Given the description of an element on the screen output the (x, y) to click on. 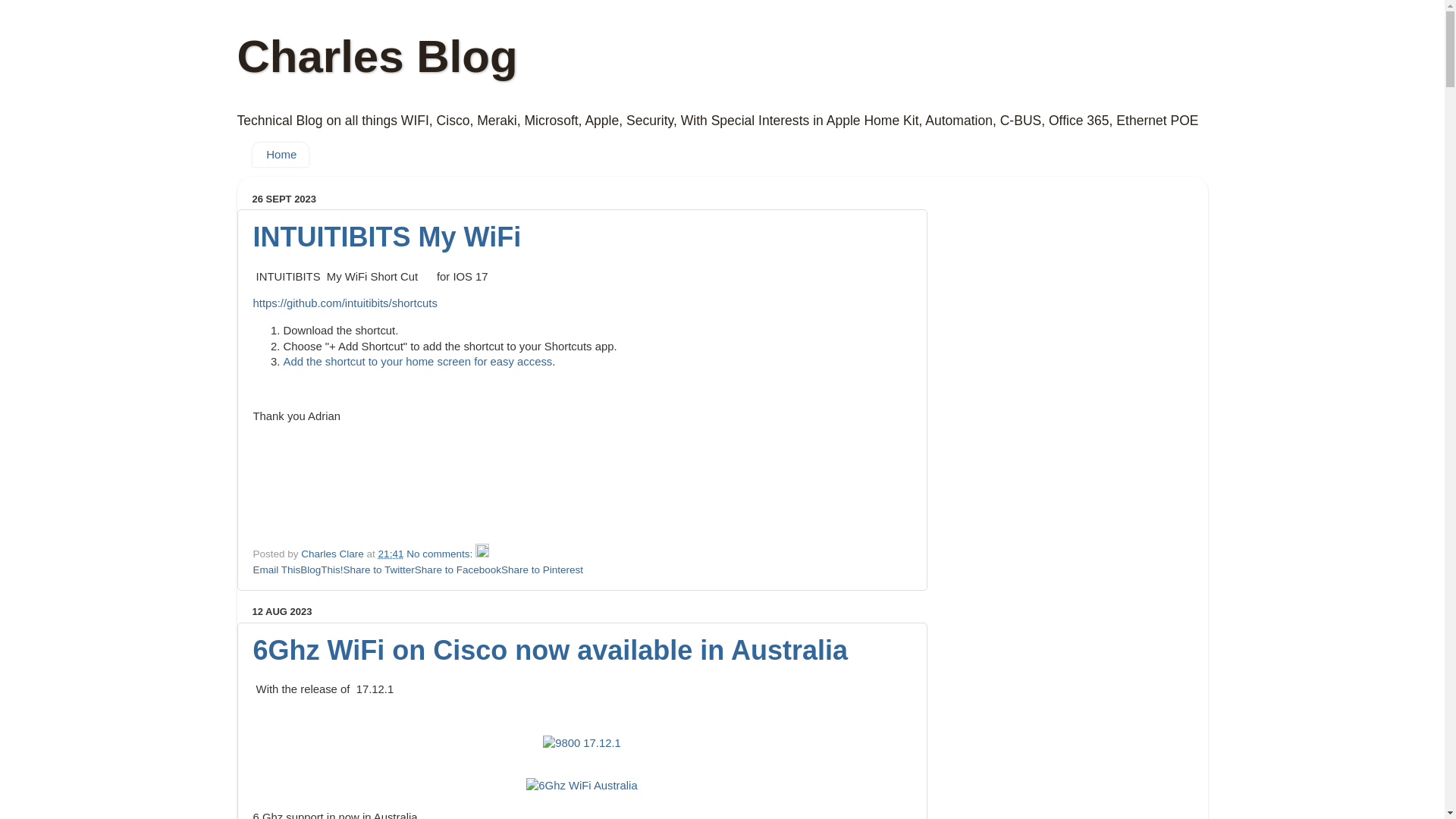
Edit Post Element type: hover (482, 553)
INTUITIBITS My WiFi Element type: text (387, 236)
https://github.com/intuitibits/shortcuts Element type: text (345, 303)
Share to Pinterest Element type: text (542, 569)
Share to Twitter Element type: text (378, 569)
BlogThis! Element type: text (321, 569)
Share to Facebook Element type: text (457, 569)
No comments: Element type: text (440, 553)
Home Element type: text (279, 154)
Charles Clare Element type: text (333, 553)
21:41 Element type: text (391, 553)
Email This Element type: text (277, 569)
6Ghz WiFi on Cisco now available in Australia Element type: text (550, 649)
Add the shortcut to your home screen for easy access Element type: text (417, 361)
